Given the description of an element on the screen output the (x, y) to click on. 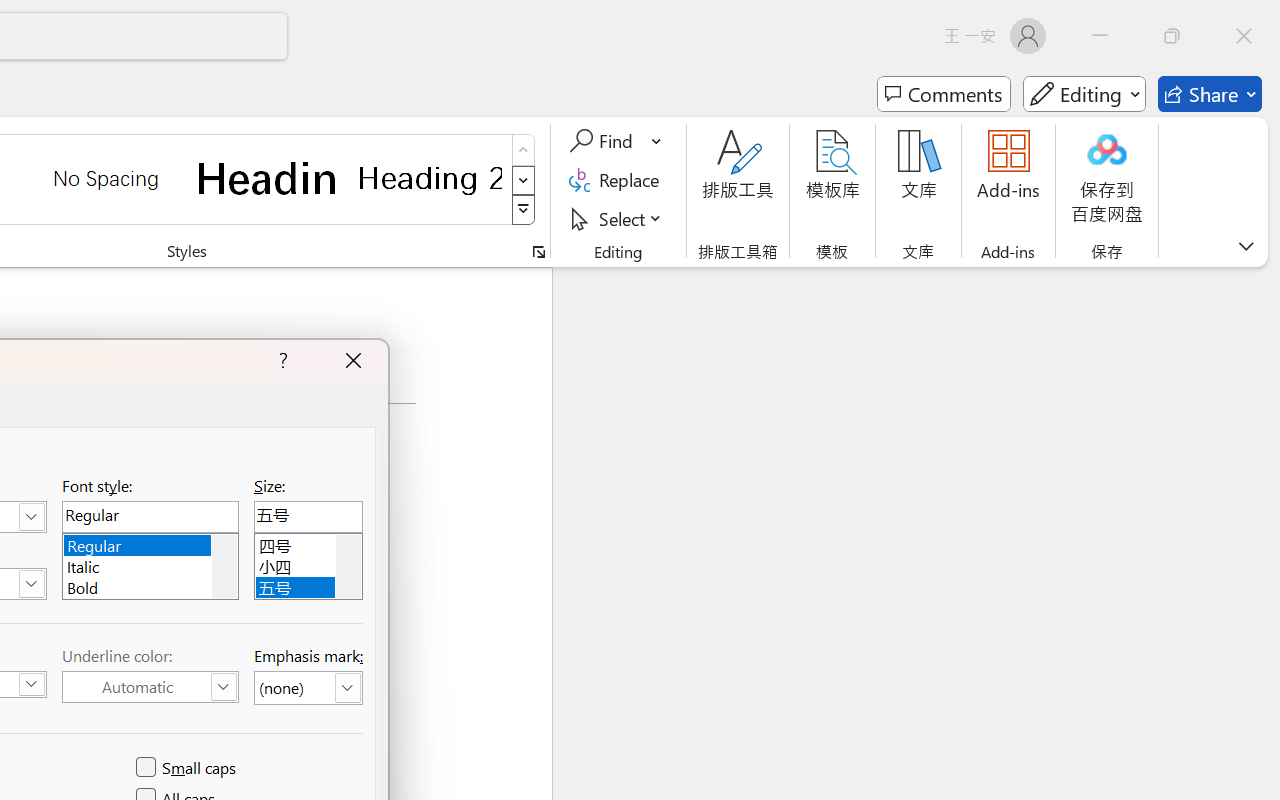
Regular (150, 542)
Small caps (187, 767)
Row Down (523, 180)
RichEdit Control (308, 516)
Heading 2 (429, 178)
Styles (523, 209)
